Given the description of an element on the screen output the (x, y) to click on. 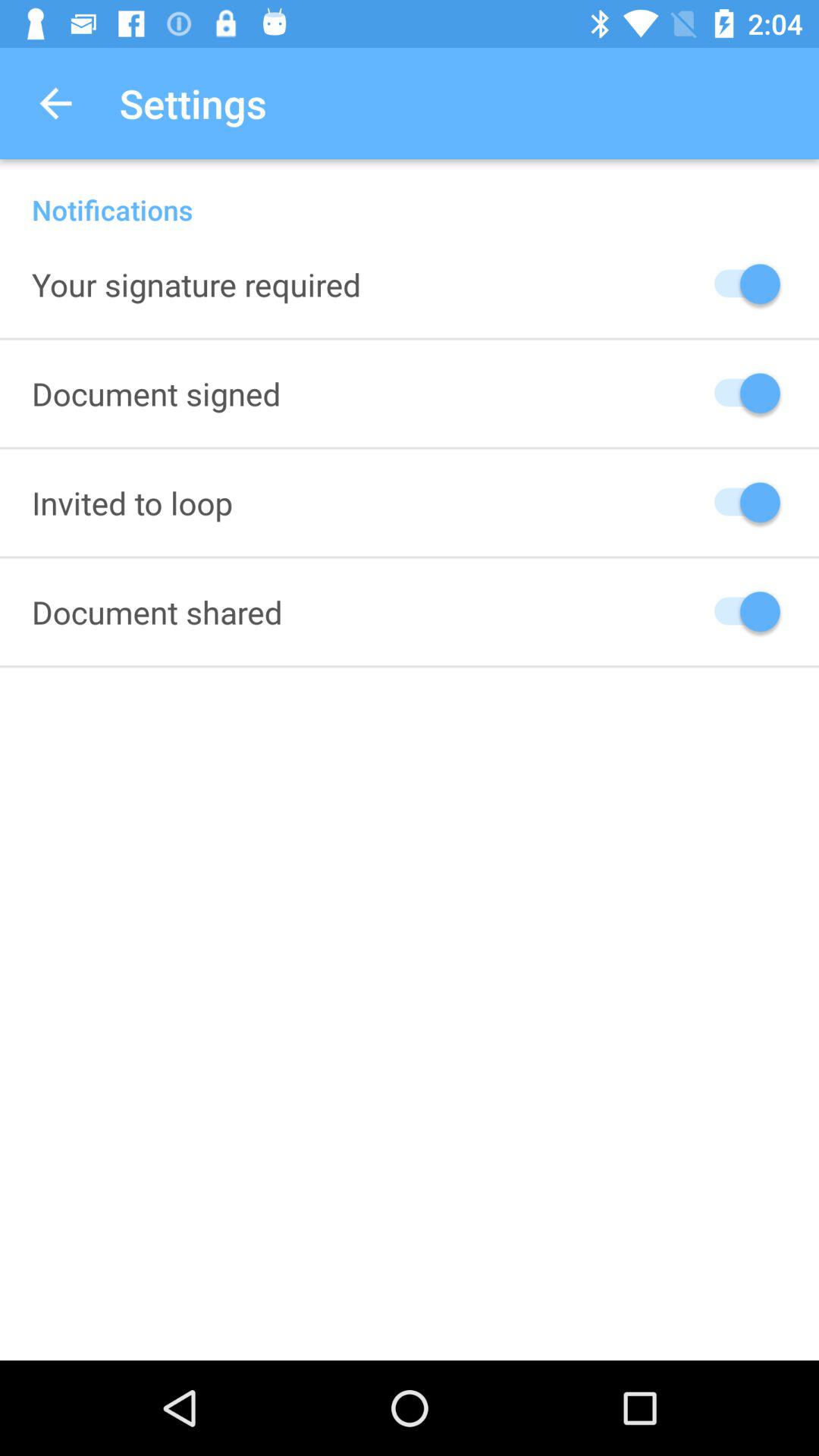
turn off your signature required icon (196, 283)
